Given the description of an element on the screen output the (x, y) to click on. 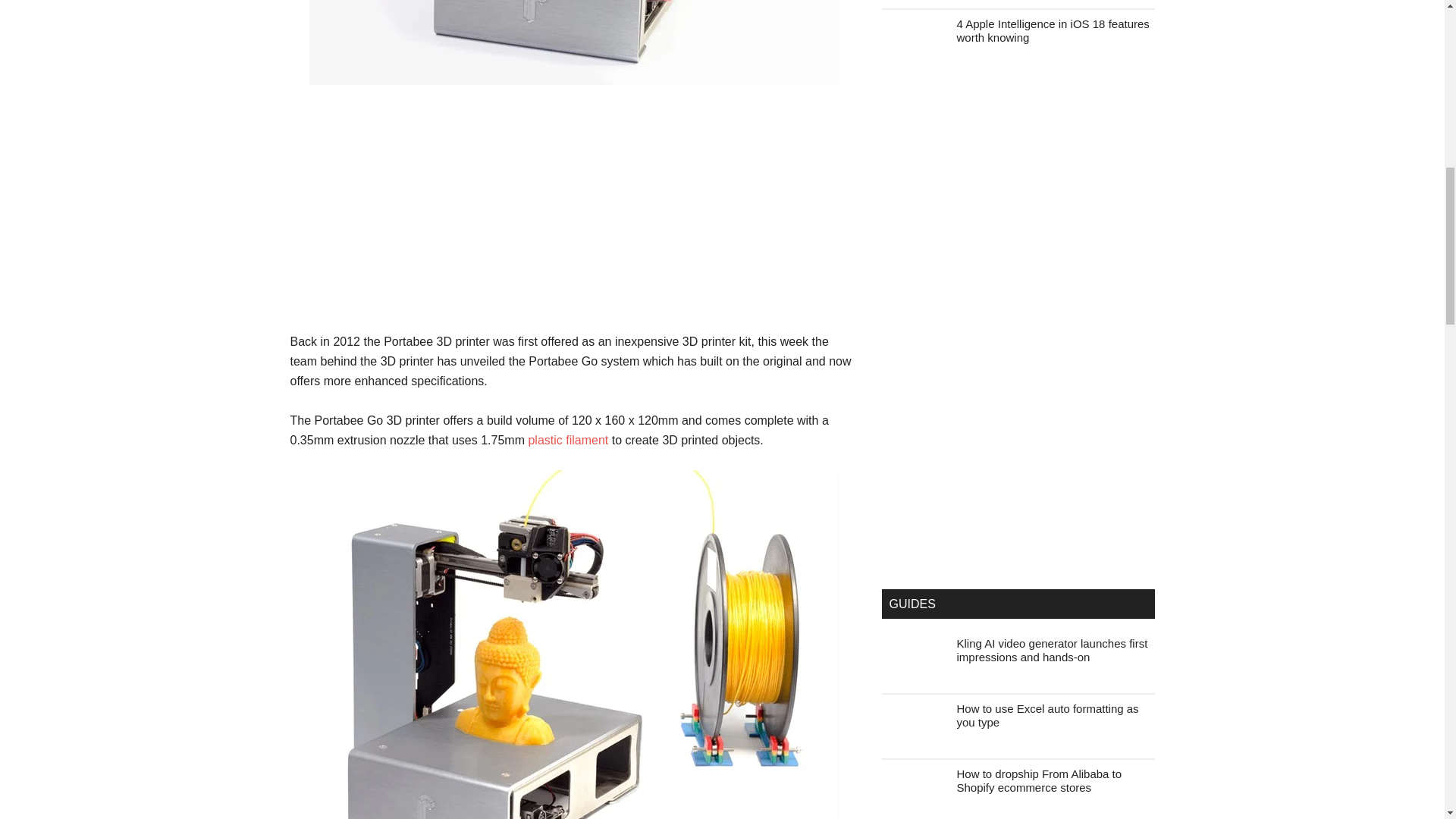
plastic filament (567, 440)
